Given the description of an element on the screen output the (x, y) to click on. 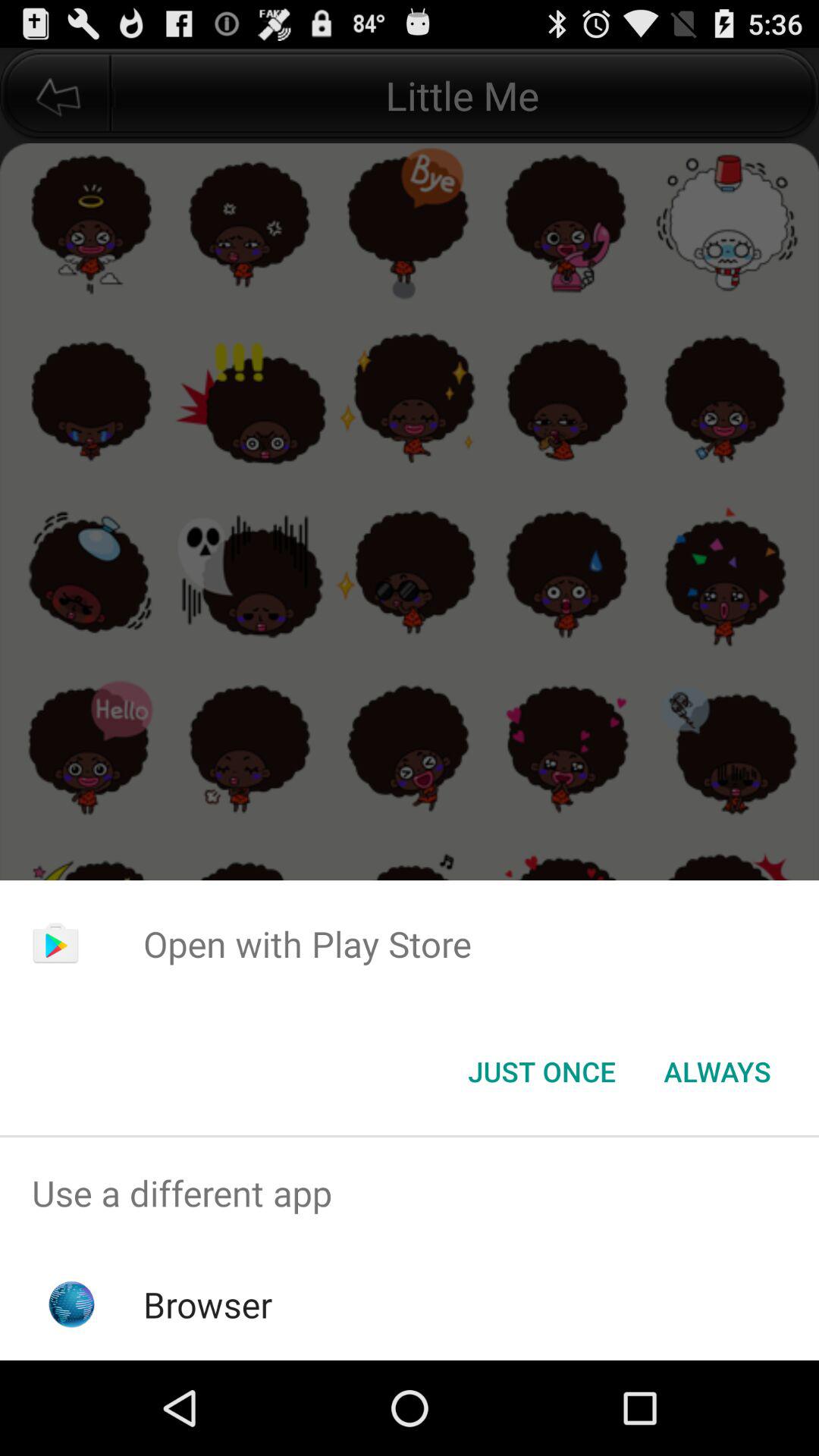
choose icon below open with play item (717, 1071)
